Given the description of an element on the screen output the (x, y) to click on. 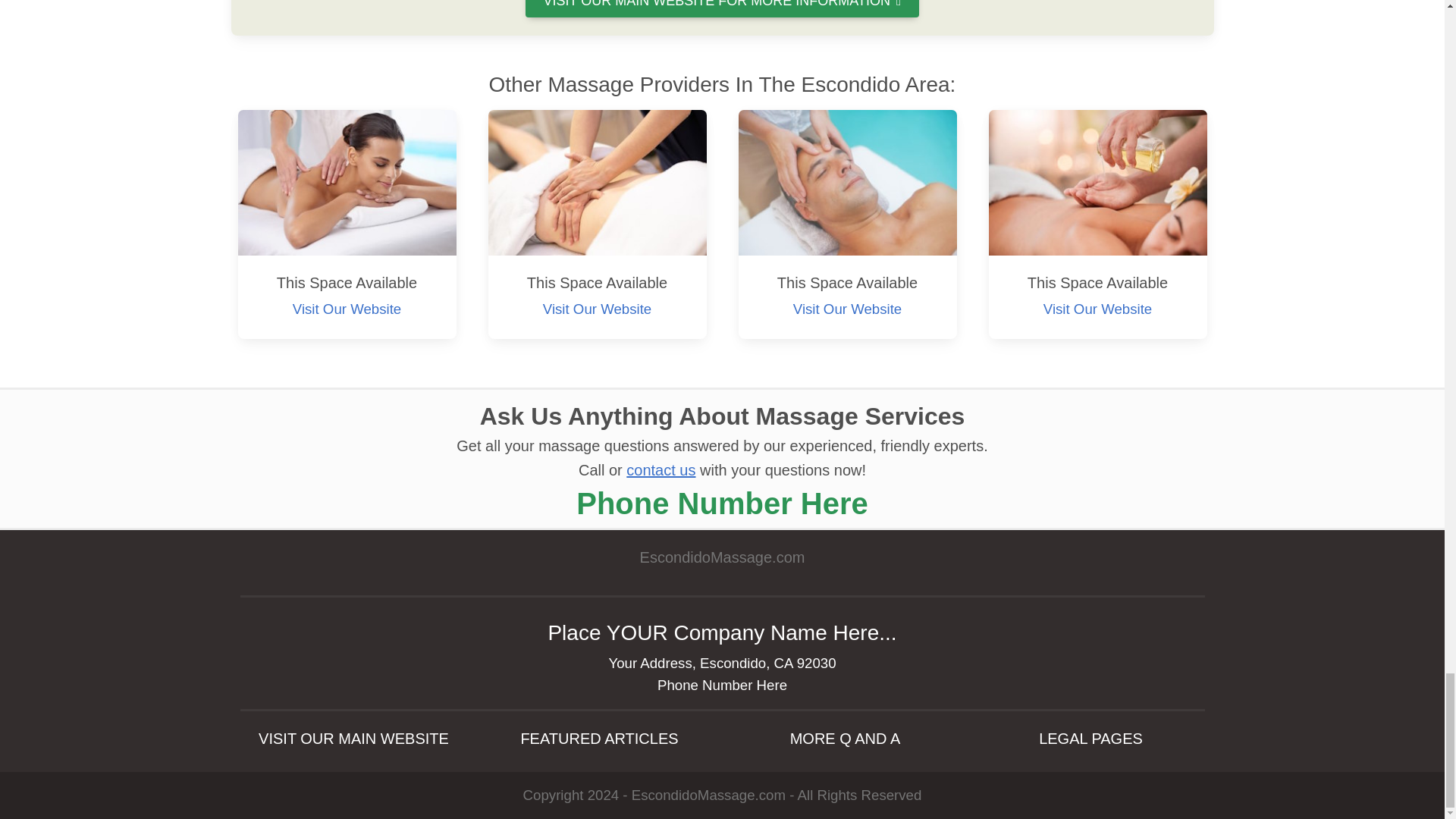
FEATURED ARTICLES (598, 738)
VISIT OUR MAIN WEBSITE (353, 738)
Visit Our Website (847, 308)
contact us (660, 469)
VISIT OUR MAIN WEBSITE FOR MORE INFORMATION (722, 8)
EscondidoMassage.com (708, 795)
EscondidoMassage.com (722, 569)
Visit Our Website (596, 308)
Place YOUR Company Name Here... (722, 632)
MORE Q AND A (844, 738)
